Given the description of an element on the screen output the (x, y) to click on. 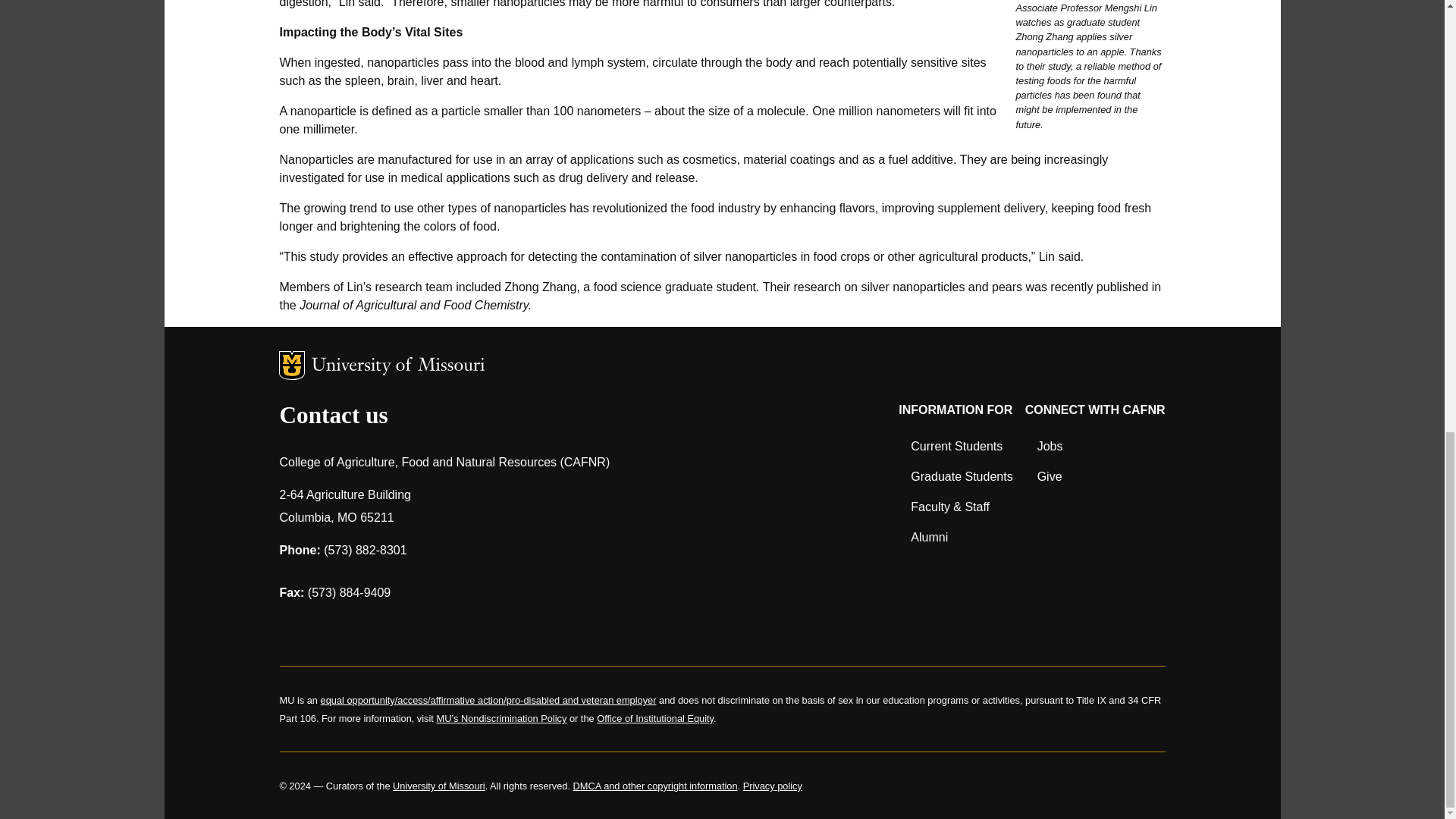
X (371, 627)
Instagram (332, 627)
Linkedin (411, 627)
Youtube (450, 627)
Facebook (292, 627)
